Given the description of an element on the screen output the (x, y) to click on. 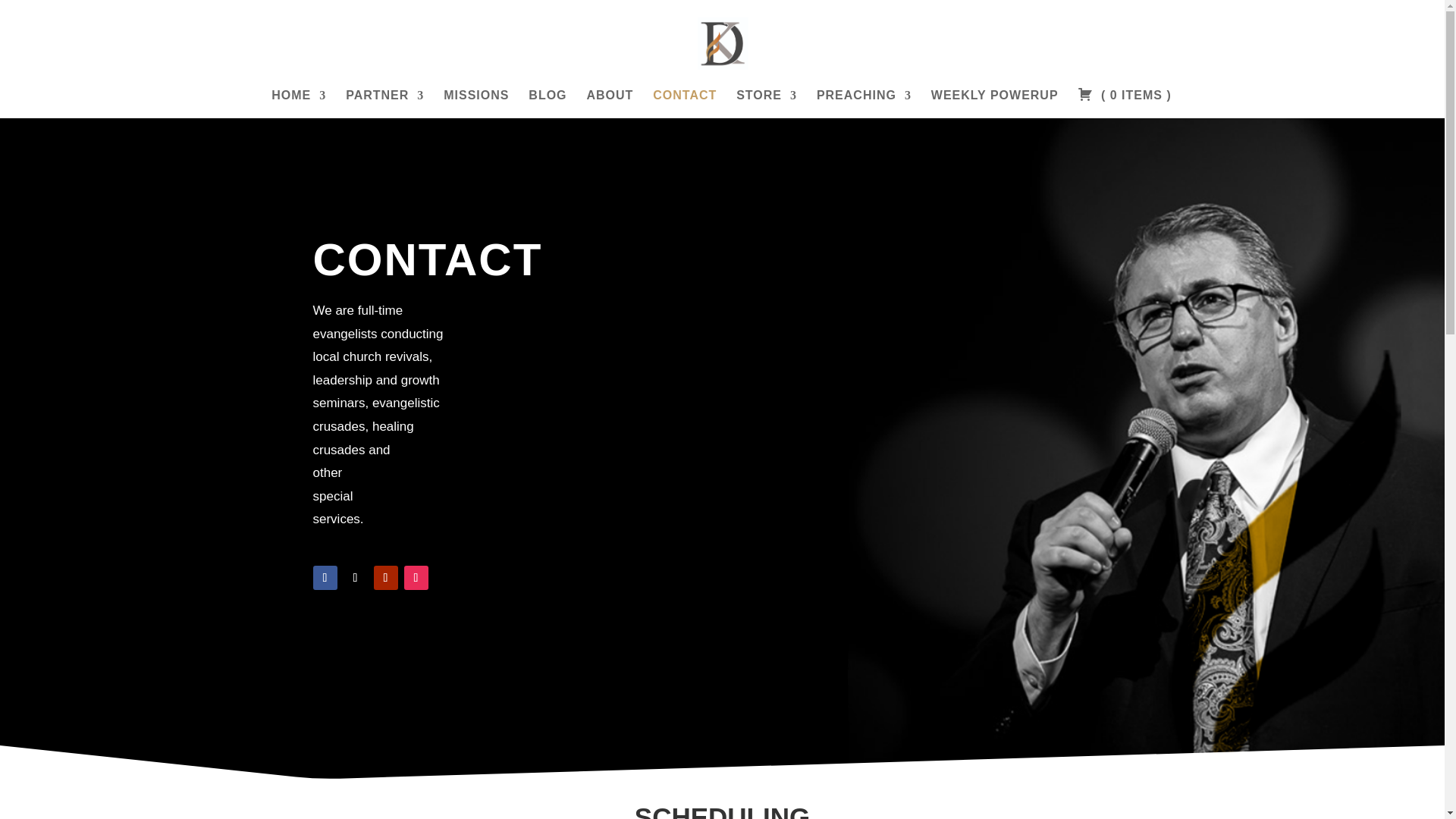
PREACHING (863, 103)
BLOG (547, 103)
PARTNER (384, 103)
CONTACT (684, 103)
Follow on Instagram (415, 577)
Follow on X (354, 577)
ABOUT (609, 103)
Follow on Youtube (384, 577)
HOME (298, 103)
MISSIONS (476, 103)
STORE (766, 103)
Follow on Facebook (324, 577)
